Given the description of an element on the screen output the (x, y) to click on. 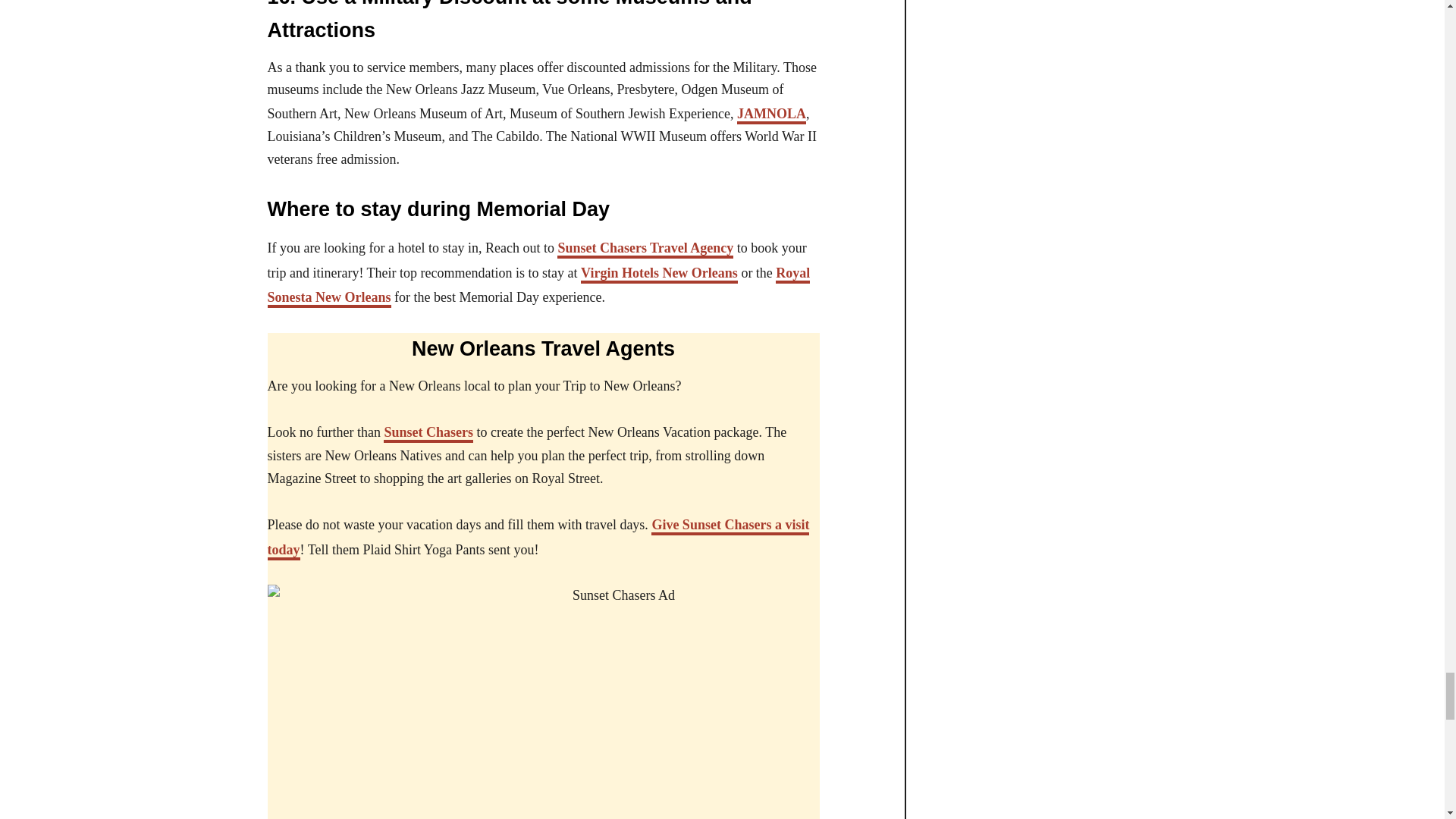
Give Sunset Chasers a visit today (537, 538)
Sunset Chasers Travel Agency (645, 249)
Virgin Hotels New Orleans (659, 274)
Sunset Chasers (428, 434)
Royal Sonesta New Orleans (537, 286)
JAMNOLA (771, 115)
